Given the description of an element on the screen output the (x, y) to click on. 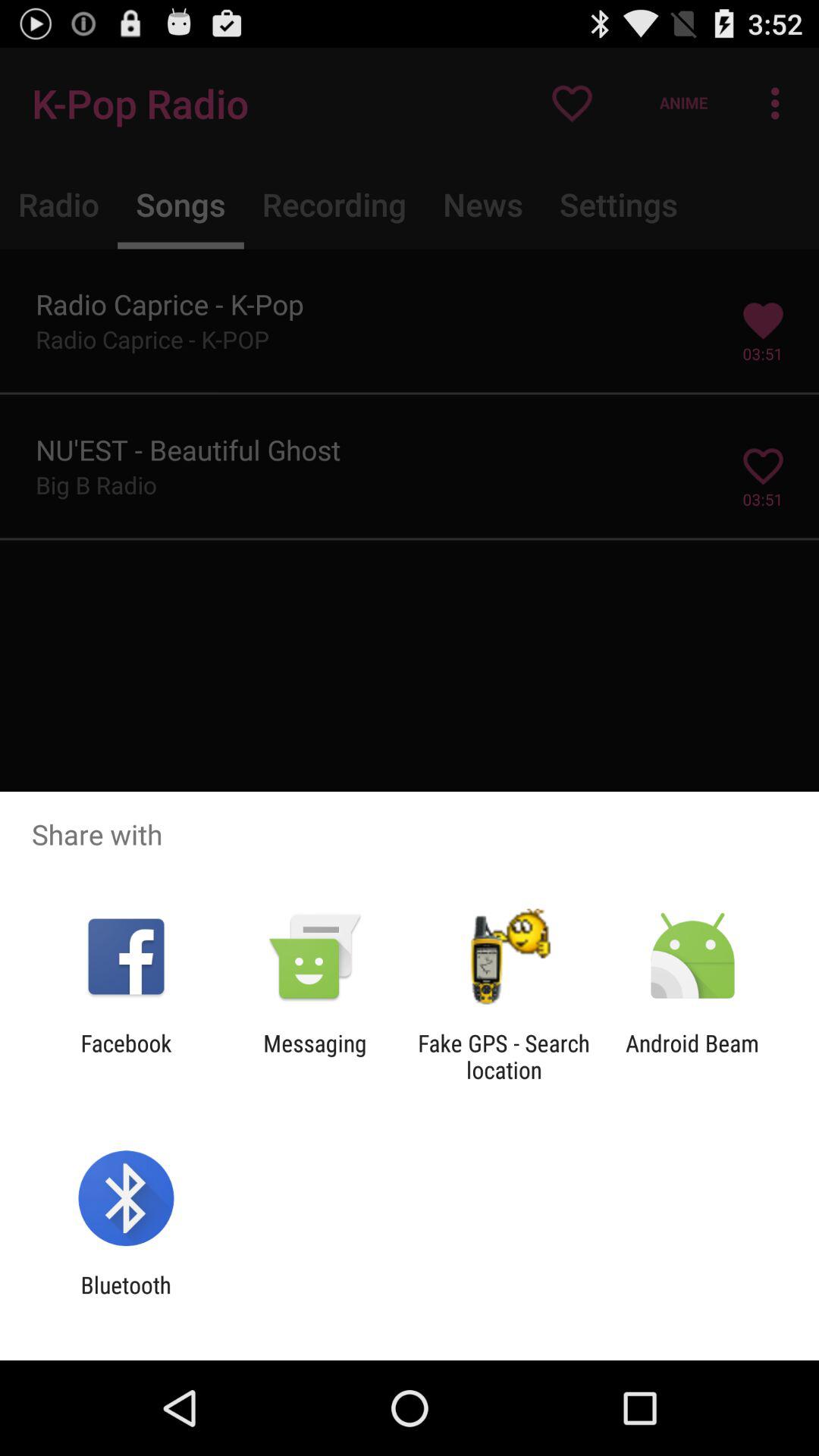
tap the app at the bottom right corner (692, 1056)
